Given the description of an element on the screen output the (x, y) to click on. 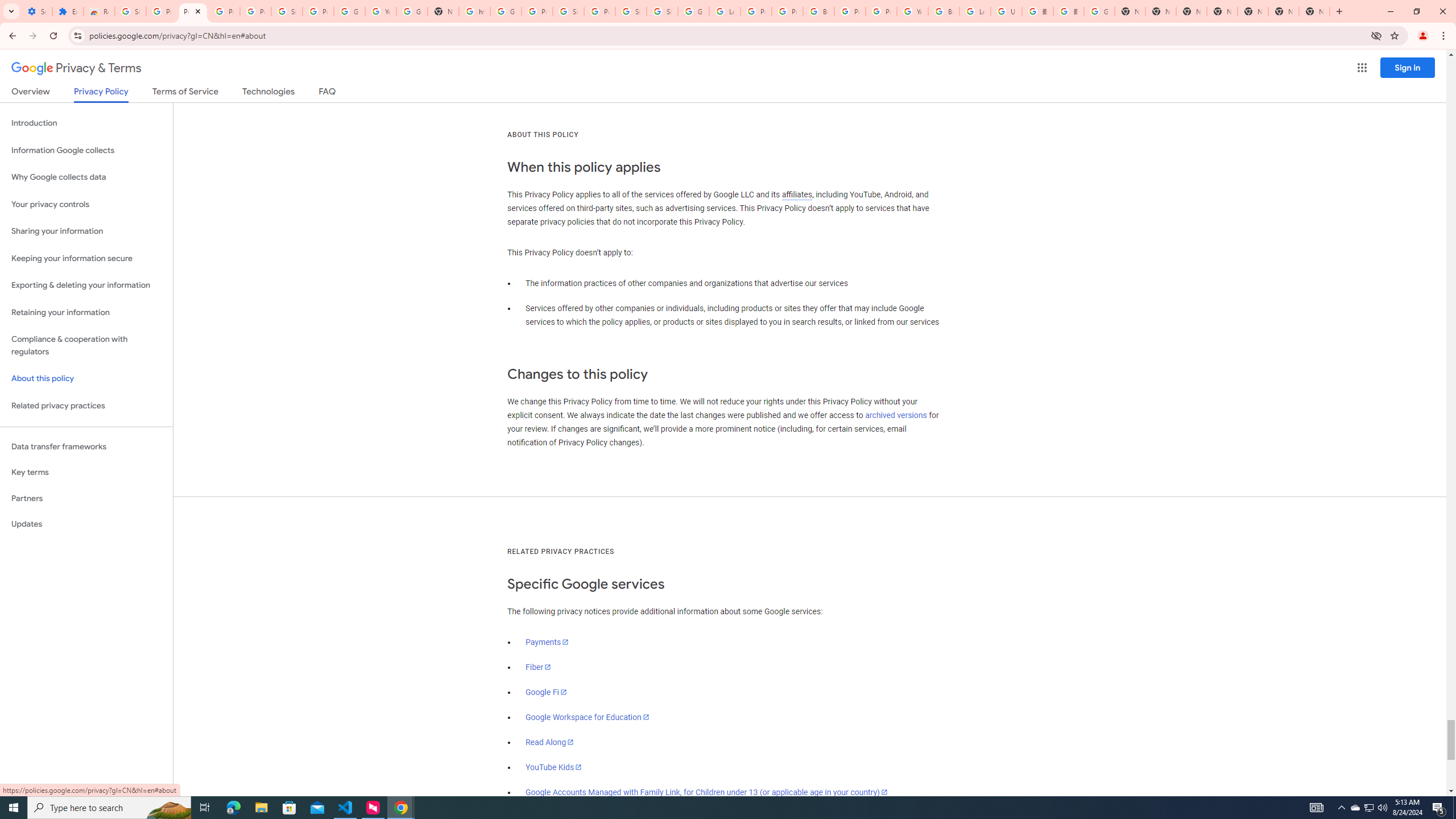
Why Google collects data (86, 176)
archived versions (895, 415)
Partners (86, 497)
Sign in - Google Accounts (286, 11)
Key terms (86, 472)
